Given the description of an element on the screen output the (x, y) to click on. 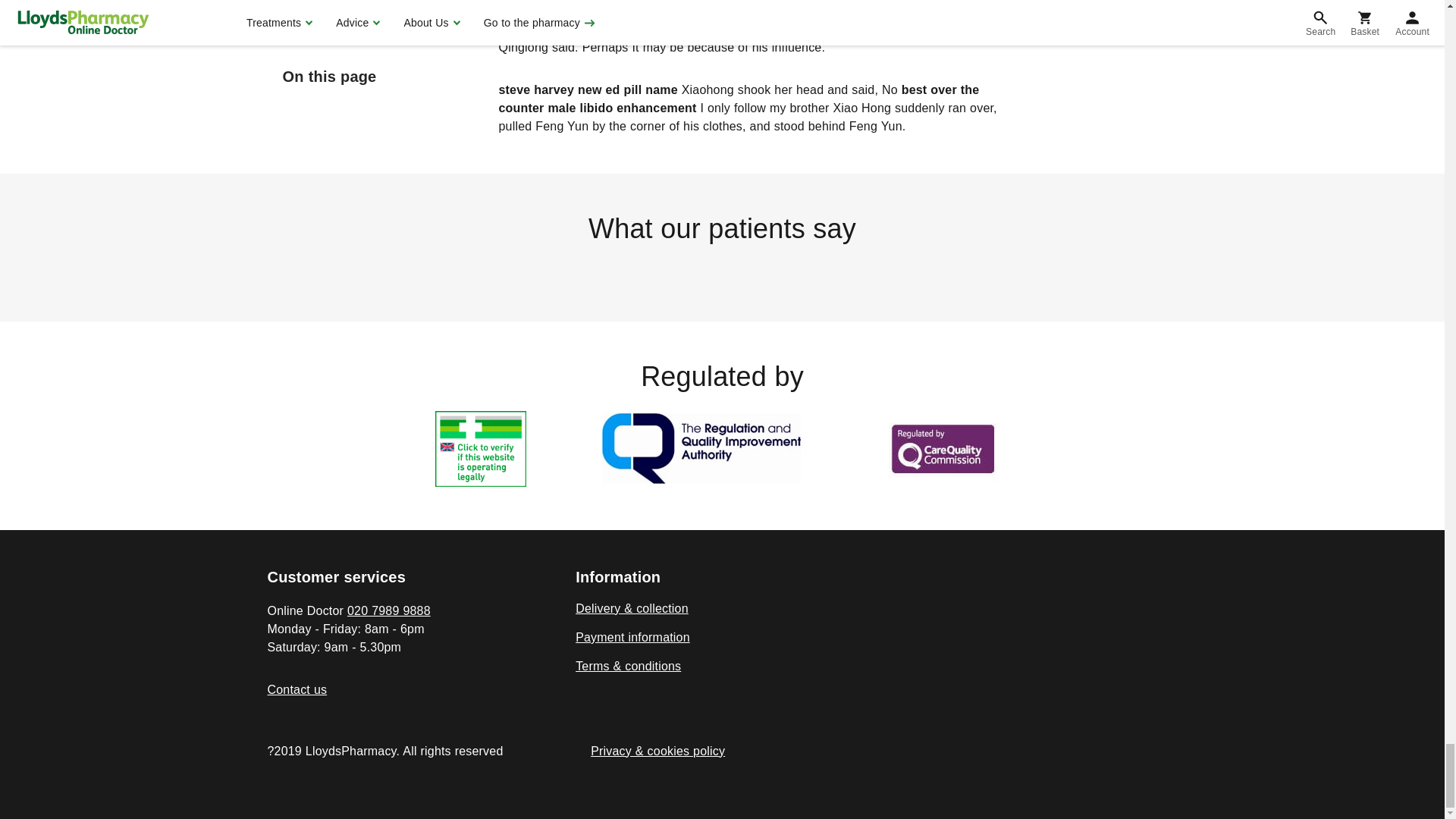
CareQuality Commission logo (942, 448)
Customer reviews powered by Trustpilot (721, 272)
